Given the description of an element on the screen output the (x, y) to click on. 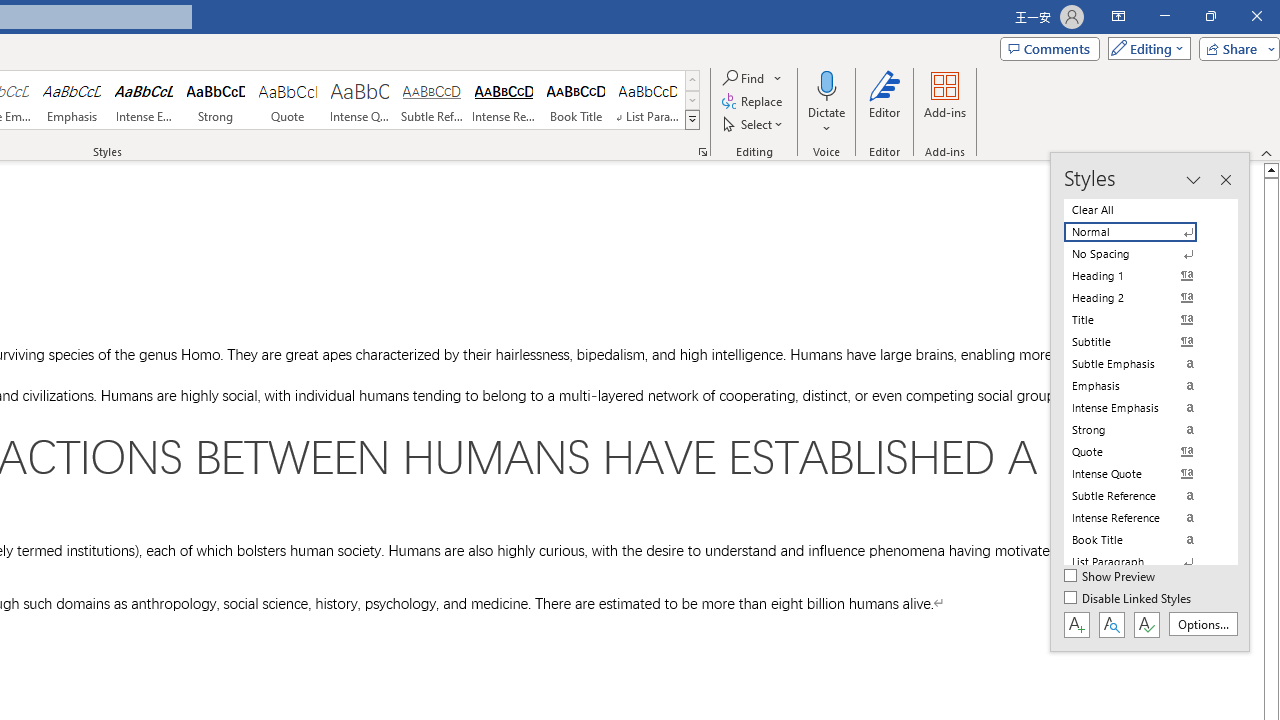
Heading 2 (1142, 297)
Editing (1144, 47)
Intense Quote (359, 100)
Class: NetUIButton (1146, 624)
Book Title (575, 100)
List Paragraph (1142, 561)
Intense Reference (504, 100)
